Given the description of an element on the screen output the (x, y) to click on. 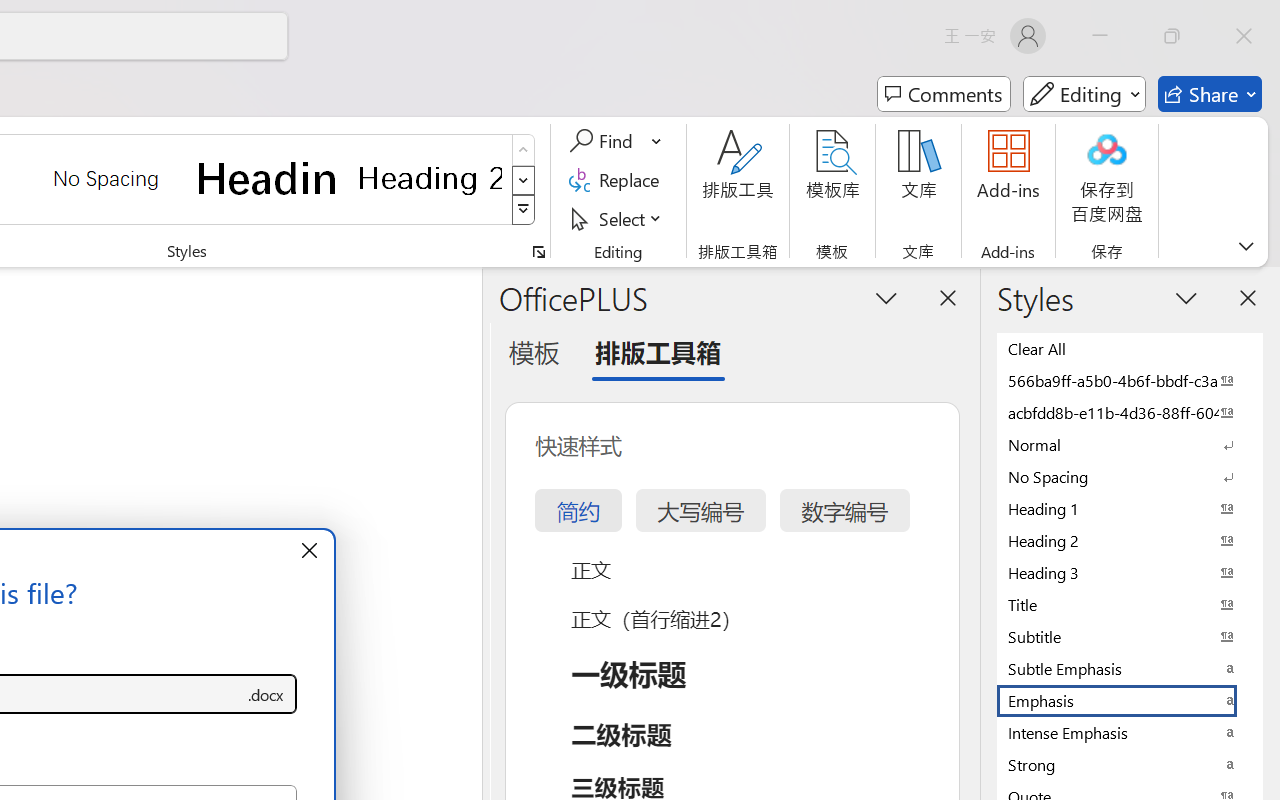
Intense Emphasis (1130, 732)
Select (618, 218)
Normal (1130, 444)
Subtle Emphasis (1130, 668)
Find (616, 141)
Class: NetUIImage (523, 210)
Restore Down (1172, 36)
Row up (523, 150)
